Given the description of an element on the screen output the (x, y) to click on. 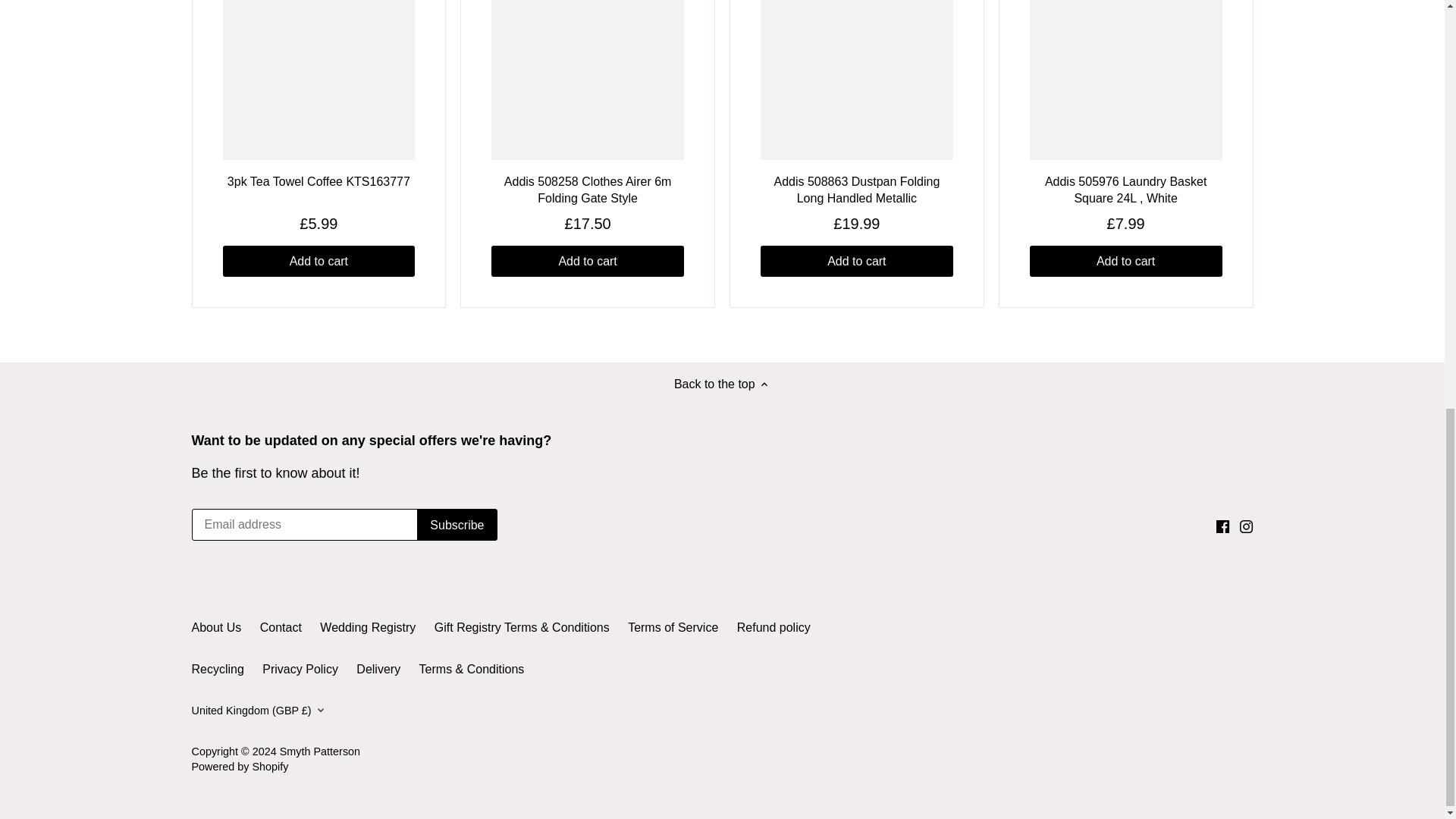
Instagram (1246, 526)
Facebook (1221, 526)
Subscribe (456, 524)
